Given the description of an element on the screen output the (x, y) to click on. 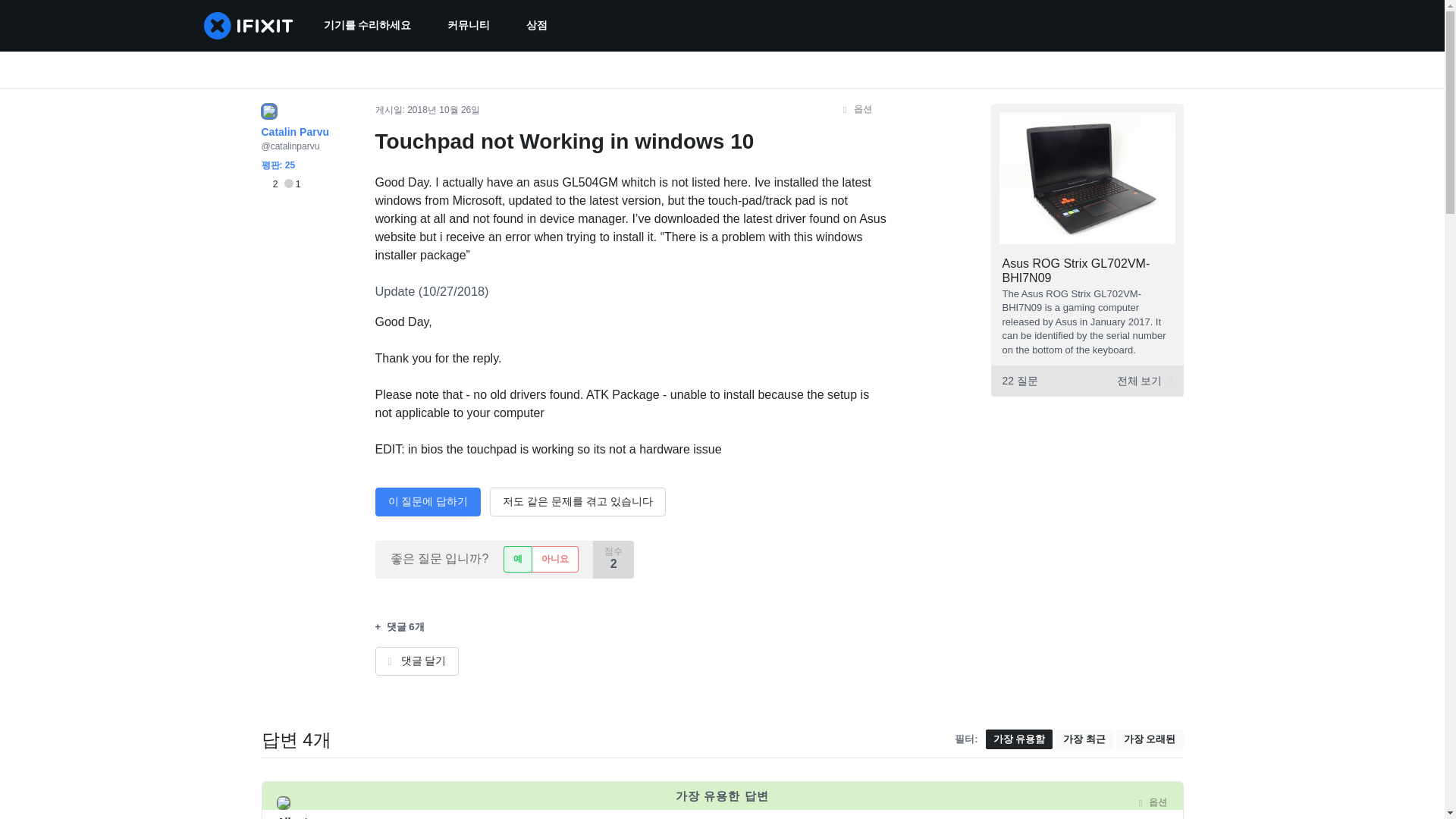
Tue, 13 Nov 2018 13:26:26 -0700 (459, 802)
2 1 (279, 184)
Asus ROG Strix GL702VM-BHI7N09 (1076, 270)
Fri, 26 Oct 2018 23:51:37 -0700 (443, 109)
